Given the description of an element on the screen output the (x, y) to click on. 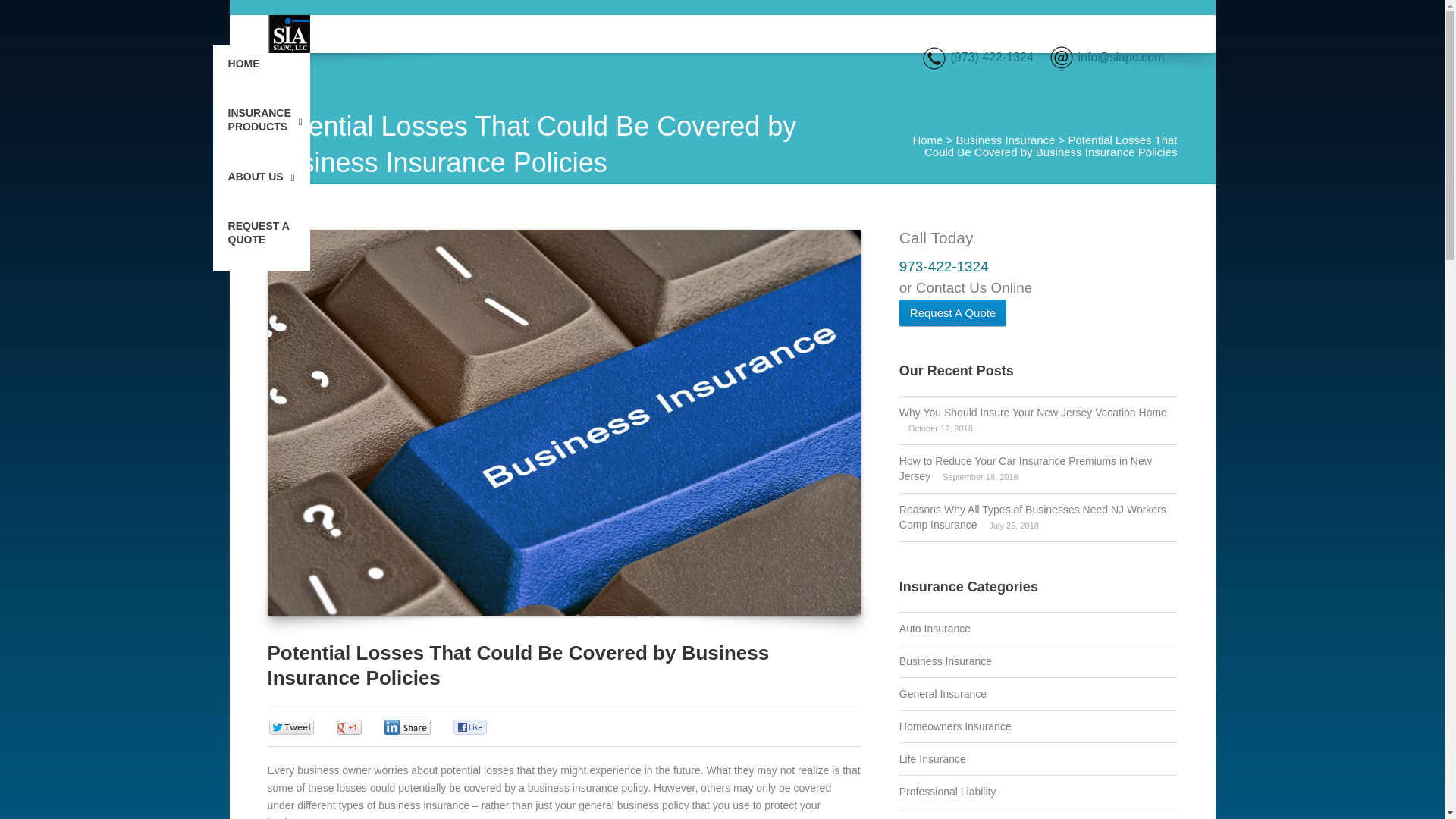
973-422-1324 (943, 266)
HOME (243, 70)
Why You Should Insure Your New Jersey Vacation Home (1033, 412)
Go to the Business Insurance category archives. (1004, 139)
Business Insurance (1004, 139)
REQUEST A QUOTE (261, 239)
Life Insurance (932, 758)
Request A Quote (952, 311)
Auto Insurance (935, 628)
INSURANCE PRODUCTS (261, 126)
ABOUT US (257, 183)
General Insurance (943, 693)
Be the first one to tweet this article! (306, 727)
How to Reduce Your Car Insurance Premiums in New Jersey (1025, 468)
